Given the description of an element on the screen output the (x, y) to click on. 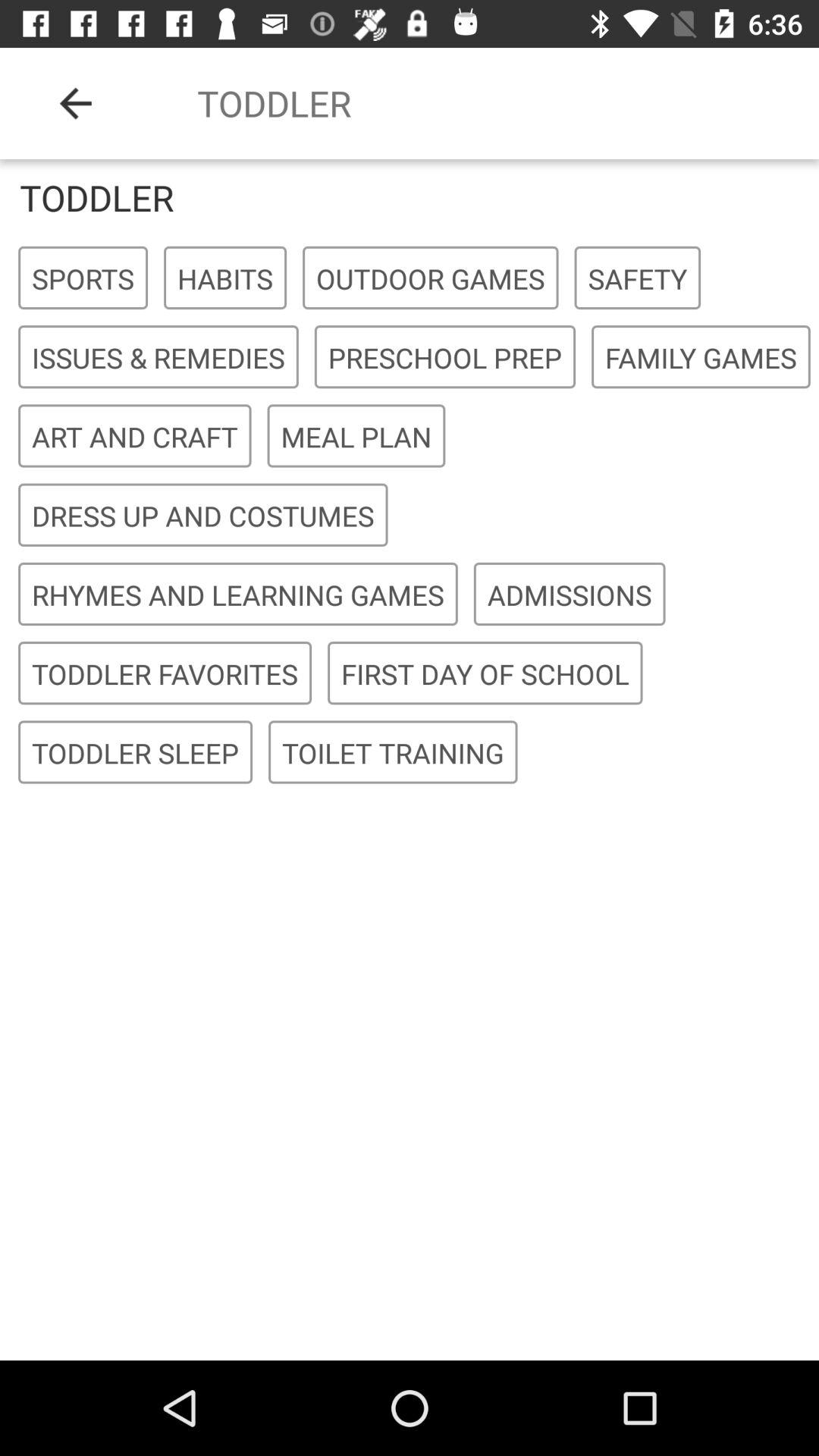
turn off the item next to the toilet training icon (134, 752)
